Given the description of an element on the screen output the (x, y) to click on. 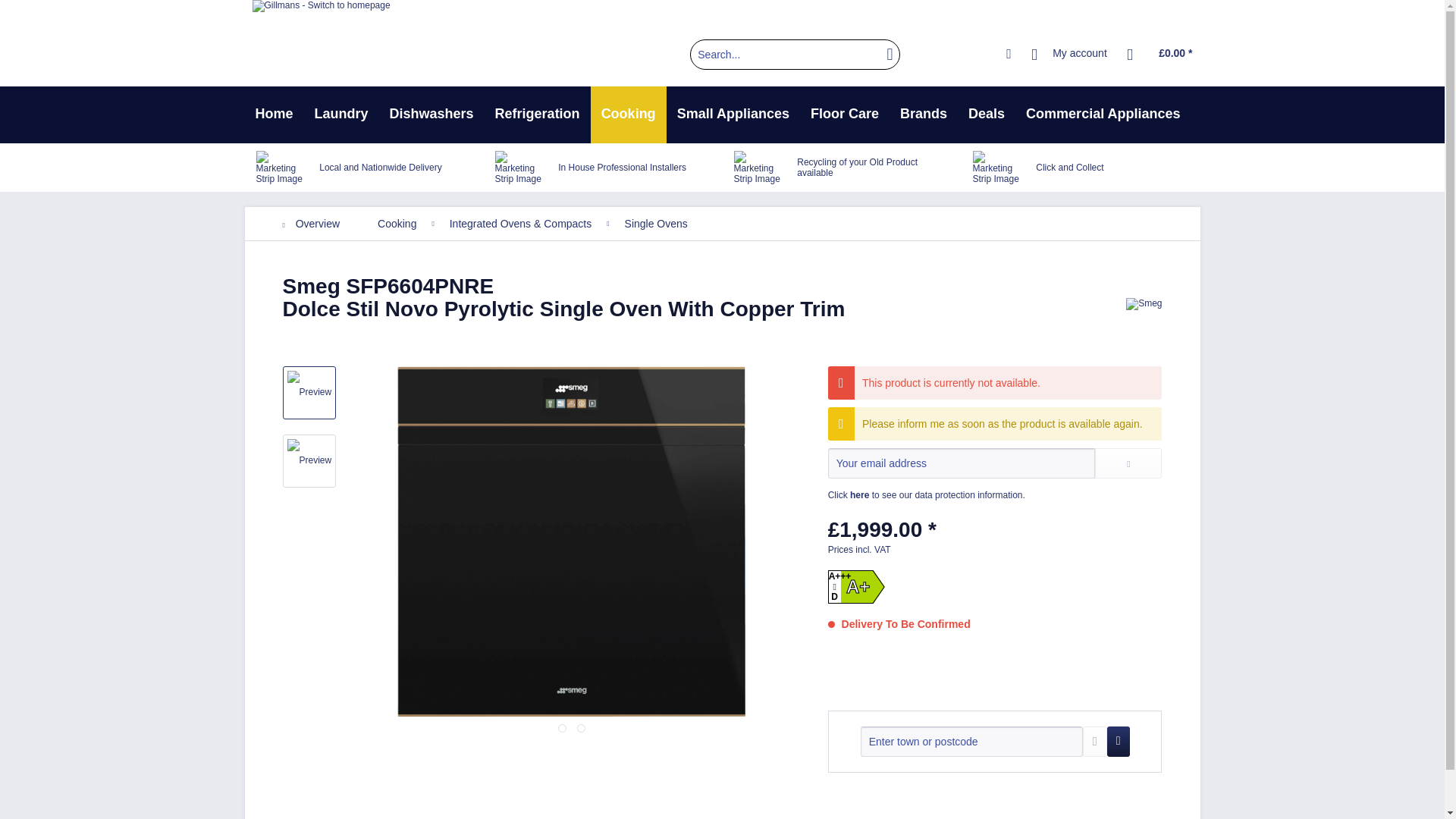
Commercial Appliances (1102, 114)
Small Appliances (732, 114)
Small Appliances (732, 114)
Home (273, 114)
Floor Care (844, 114)
Refrigeration (537, 114)
Refrigeration (537, 114)
Gillmans - Switch to homepage (320, 39)
Shopping cart (1160, 54)
Cooking (628, 114)
Laundry (341, 114)
Home (273, 114)
Dishwashers (431, 114)
Brands (923, 114)
My account (1070, 54)
